Given the description of an element on the screen output the (x, y) to click on. 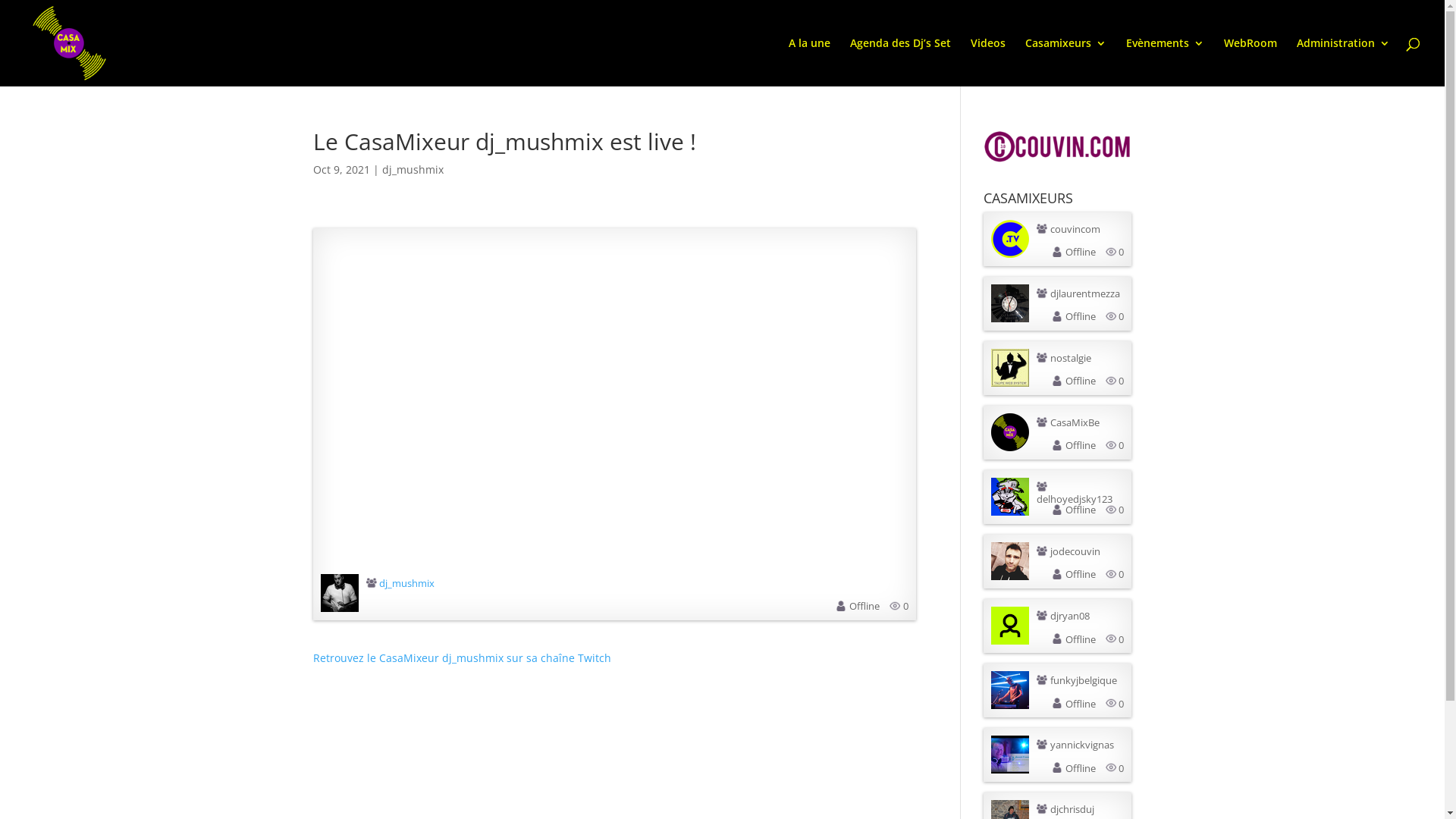
djlaurentmezza Element type: text (1085, 293)
jodecouvin Element type: text (1075, 551)
A la une Element type: text (809, 61)
WebRoom Element type: text (1250, 61)
djryan08 Element type: text (1069, 616)
Videos Element type: text (987, 61)
Casamixeurs Element type: text (1065, 61)
djchrisduj Element type: text (1072, 809)
dj_mushmix Element type: text (412, 169)
delhoyedjsky123 Element type: text (1074, 498)
funkyjbelgique Element type: text (1083, 680)
dj_mushmix Element type: text (406, 582)
couvincom Element type: text (1075, 228)
nostalgie Element type: text (1070, 358)
Administration Element type: text (1343, 61)
CasaMixBe Element type: text (1074, 422)
yannickvignas Element type: text (1081, 745)
